Given the description of an element on the screen output the (x, y) to click on. 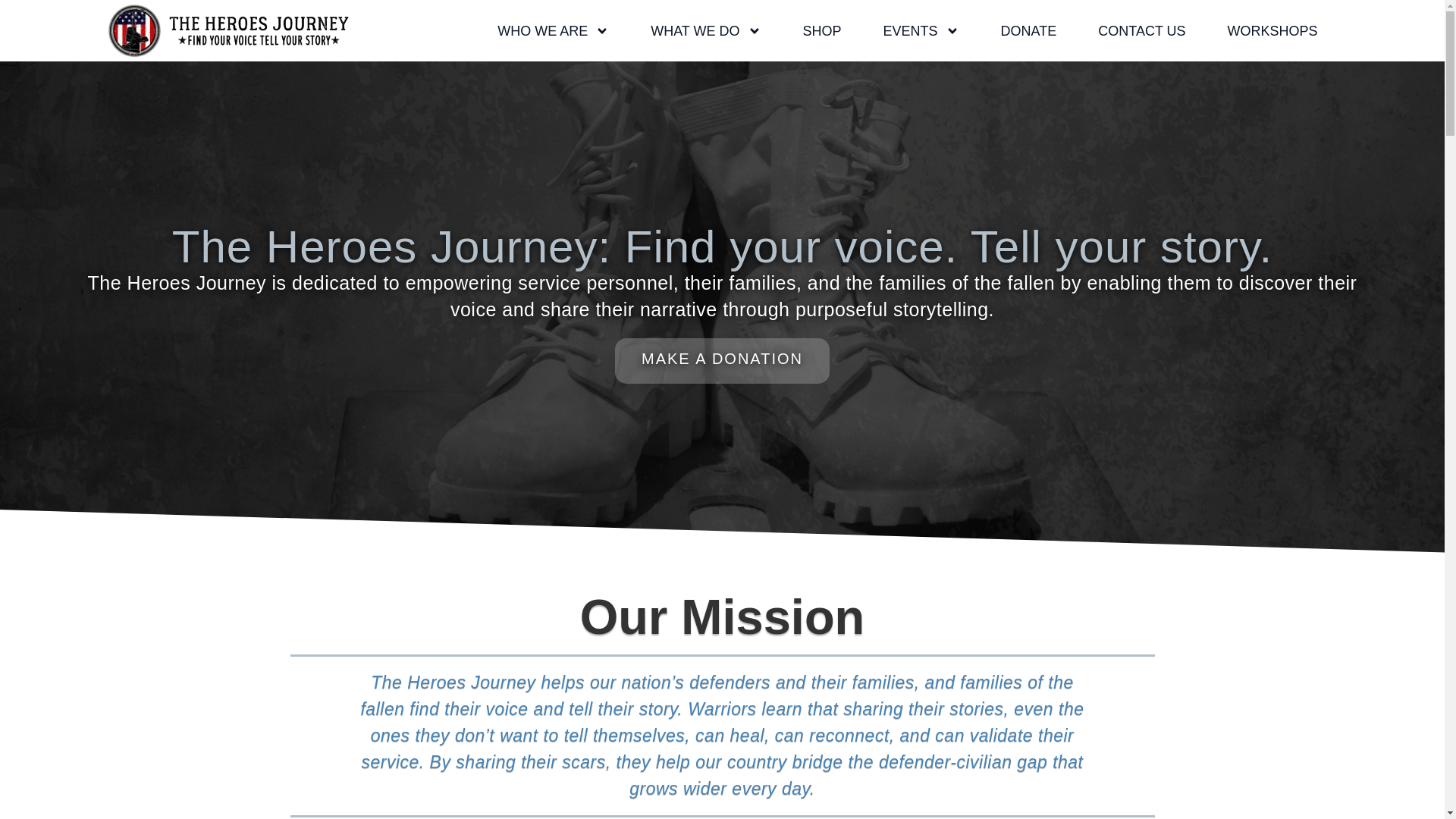
SHOP (822, 30)
WHAT WE DO (704, 30)
DONATE (1028, 30)
WORKSHOPS (1272, 30)
EVENTS (921, 30)
CONTACT US (1141, 30)
WHO WE ARE (553, 30)
